Given the description of an element on the screen output the (x, y) to click on. 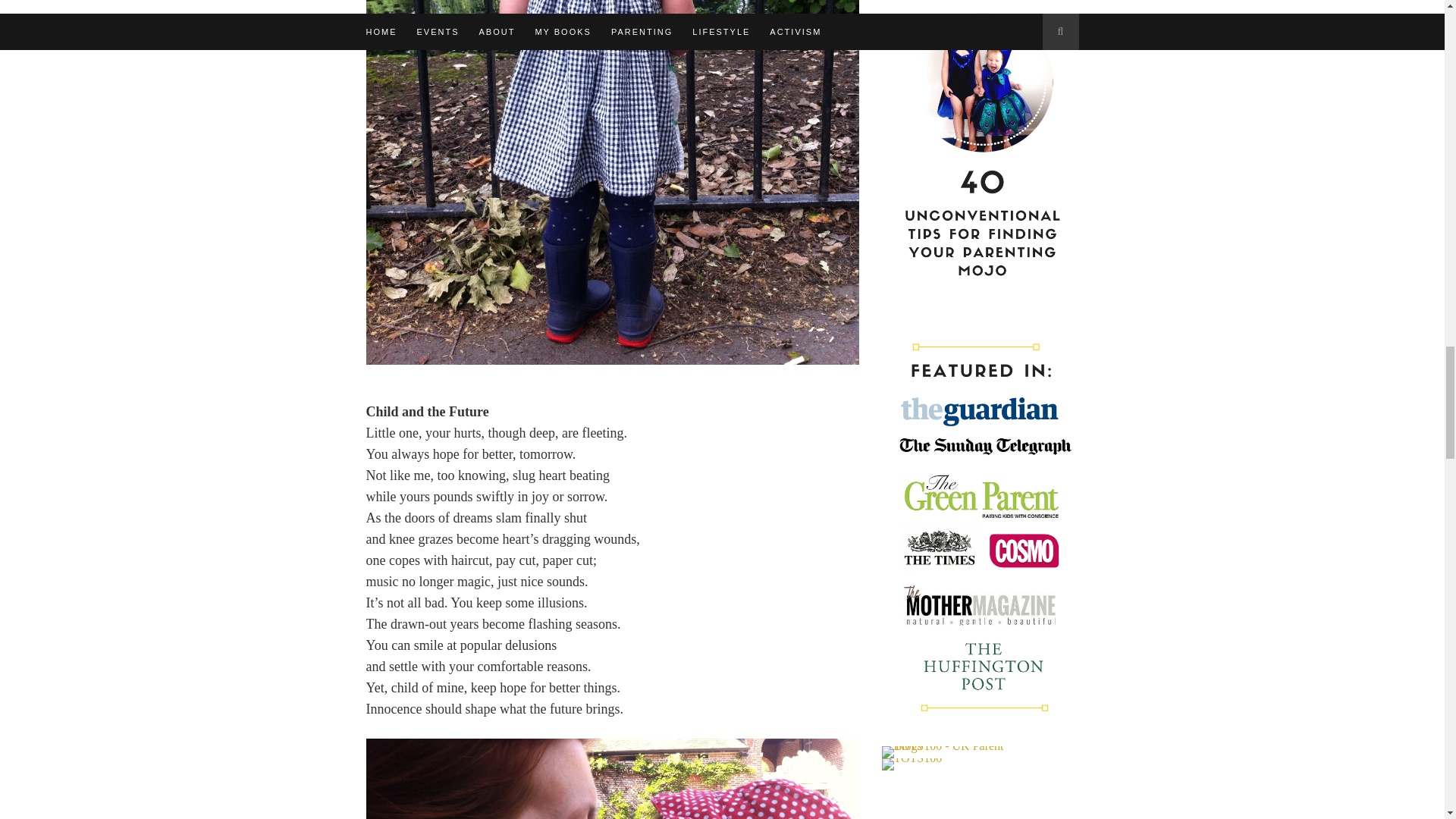
TOTS 100 - UK Parent Blogs (943, 745)
TOTS100 - UK Parent Blogs (943, 752)
TOTS100 (911, 764)
TOTS100 (911, 757)
